Given the description of an element on the screen output the (x, y) to click on. 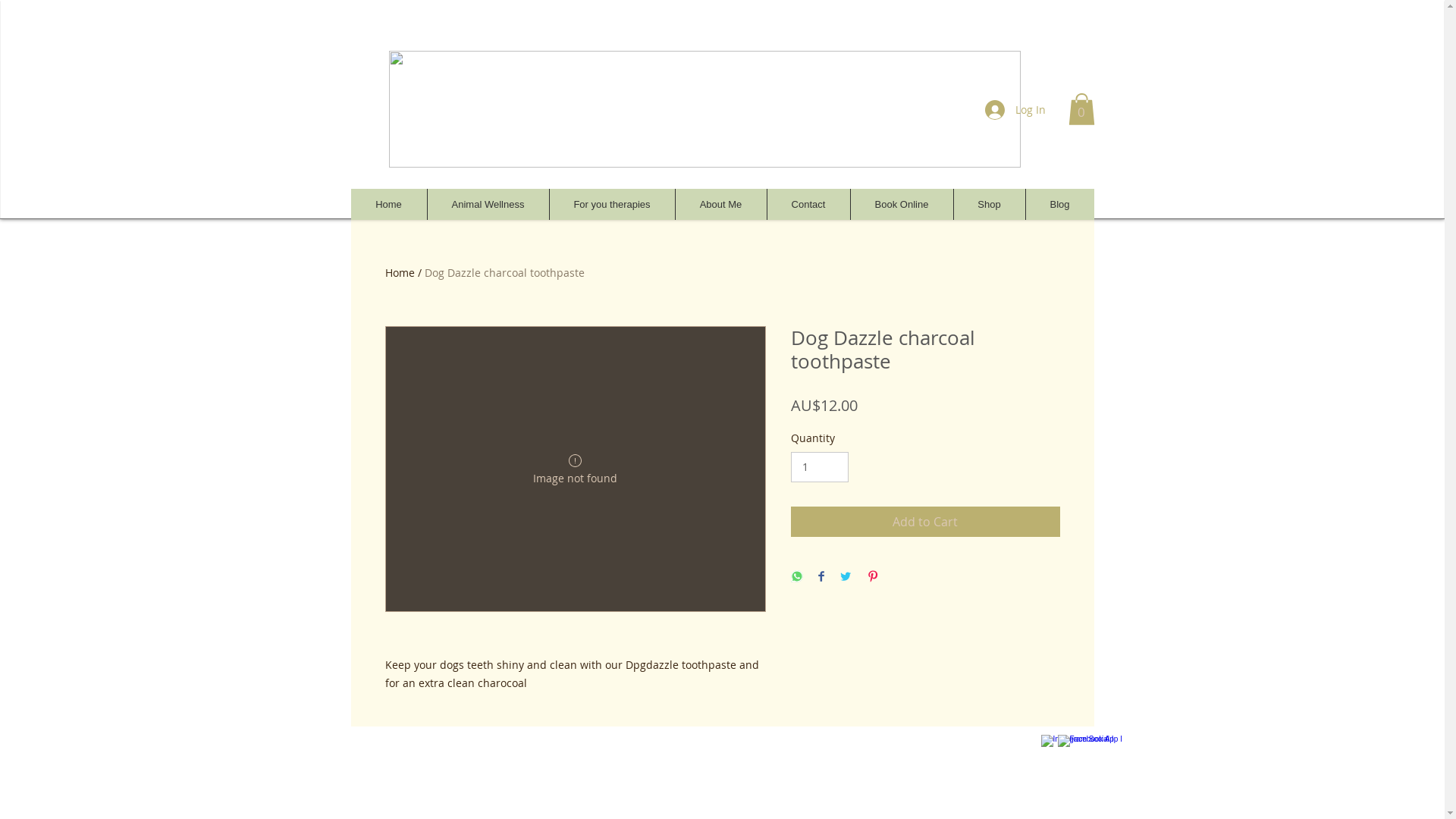
Blog Element type: text (1059, 203)
0 Element type: text (1080, 109)
Book Online Element type: text (900, 203)
Home Element type: text (388, 203)
About Me Element type: text (720, 203)
Add to Cart Element type: text (924, 521)
Log In Element type: text (1014, 109)
Shop Element type: text (988, 203)
Dog Dazzle charcoal toothpaste Element type: text (504, 272)
For you therapies Element type: text (611, 203)
Contact Element type: text (807, 203)
Animal Wellness Element type: text (487, 203)
Home Element type: text (399, 272)
